Given the description of an element on the screen output the (x, y) to click on. 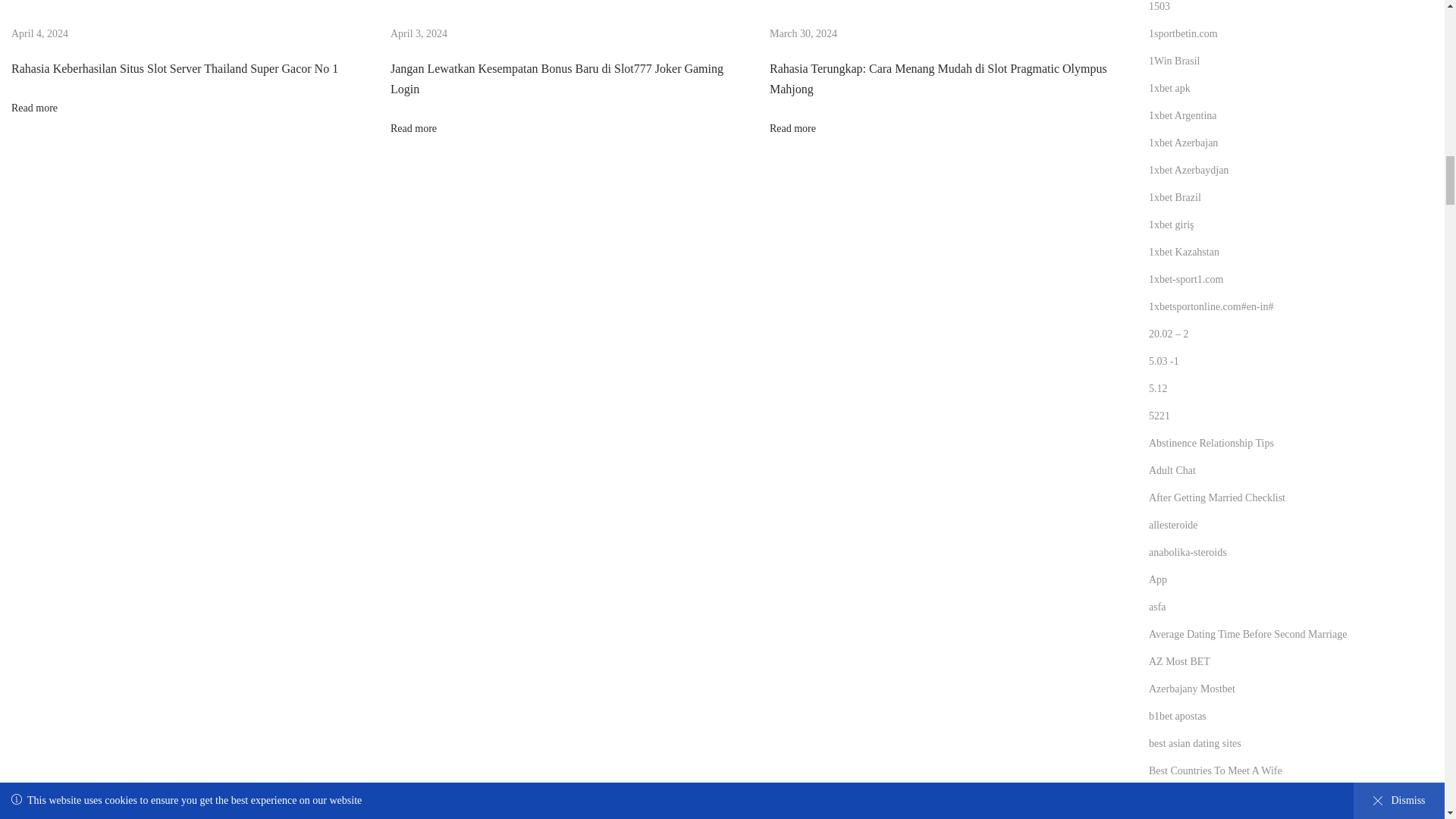
Read more (34, 107)
Read more (413, 128)
Read more (792, 128)
